Given the description of an element on the screen output the (x, y) to click on. 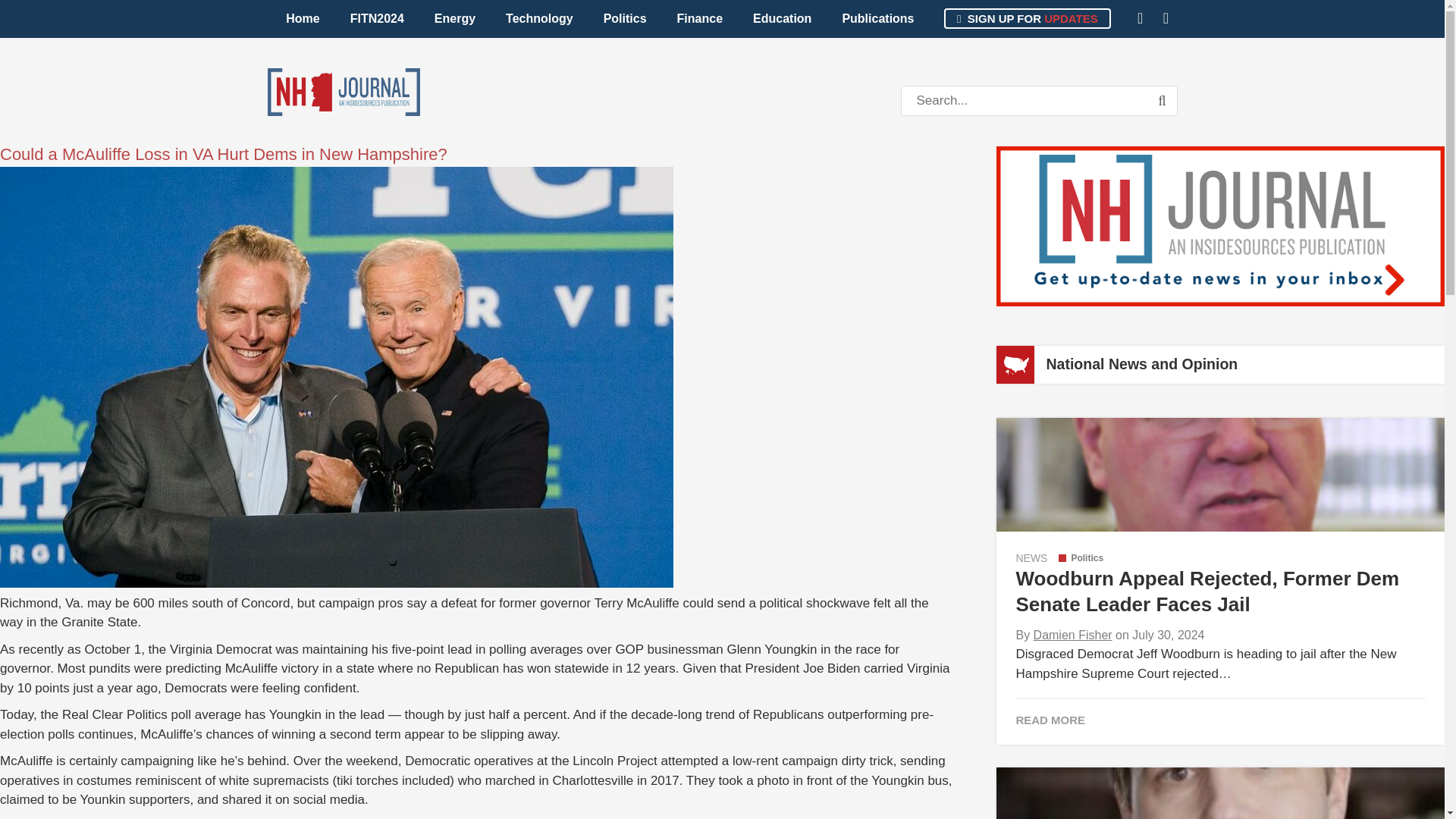
Technology (539, 18)
Politics (1080, 557)
Could a McAuliffe Loss in VA Hurt Dems in New Hampshire? (223, 153)
  SIGN UP FOR UPDATES (1026, 18)
READ MORE (1219, 719)
Energy (454, 18)
Politics (625, 18)
Education (782, 18)
View all posts in Politics (1080, 557)
Publications (877, 18)
FITN2024 (376, 18)
National News and Opinion (1141, 363)
Finance (700, 18)
